Given the description of an element on the screen output the (x, y) to click on. 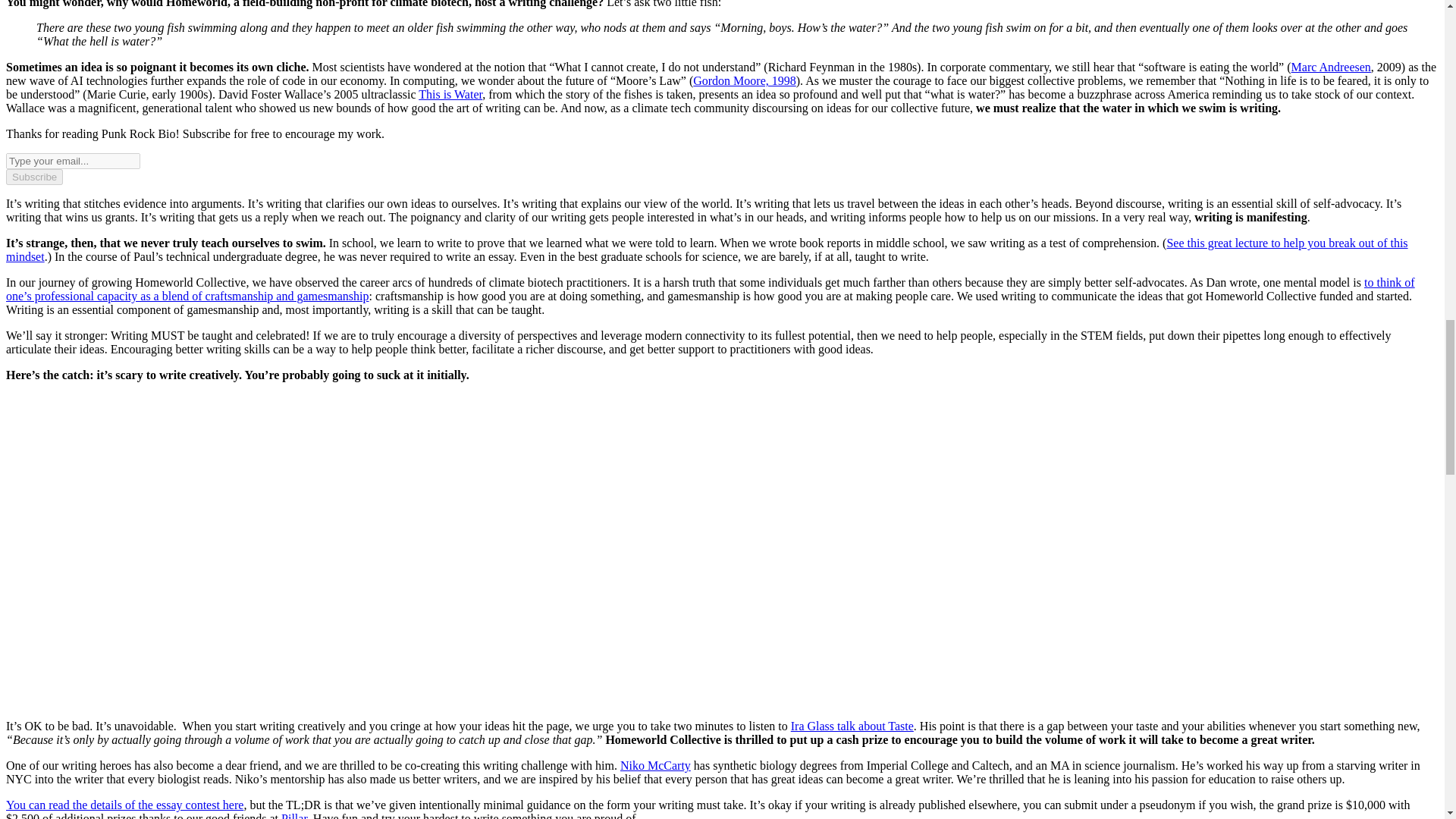
Marc Andreesen (1331, 66)
You can read the details of the essay contest here (124, 804)
Subscribe (33, 176)
Niko McCarty (655, 765)
Pillar (294, 815)
See this great lecture to help you break out of this mindset (706, 249)
Gordon Moore, 1998 (744, 80)
This is Water (450, 93)
Ira Glass talk about Taste (852, 725)
